Given the description of an element on the screen output the (x, y) to click on. 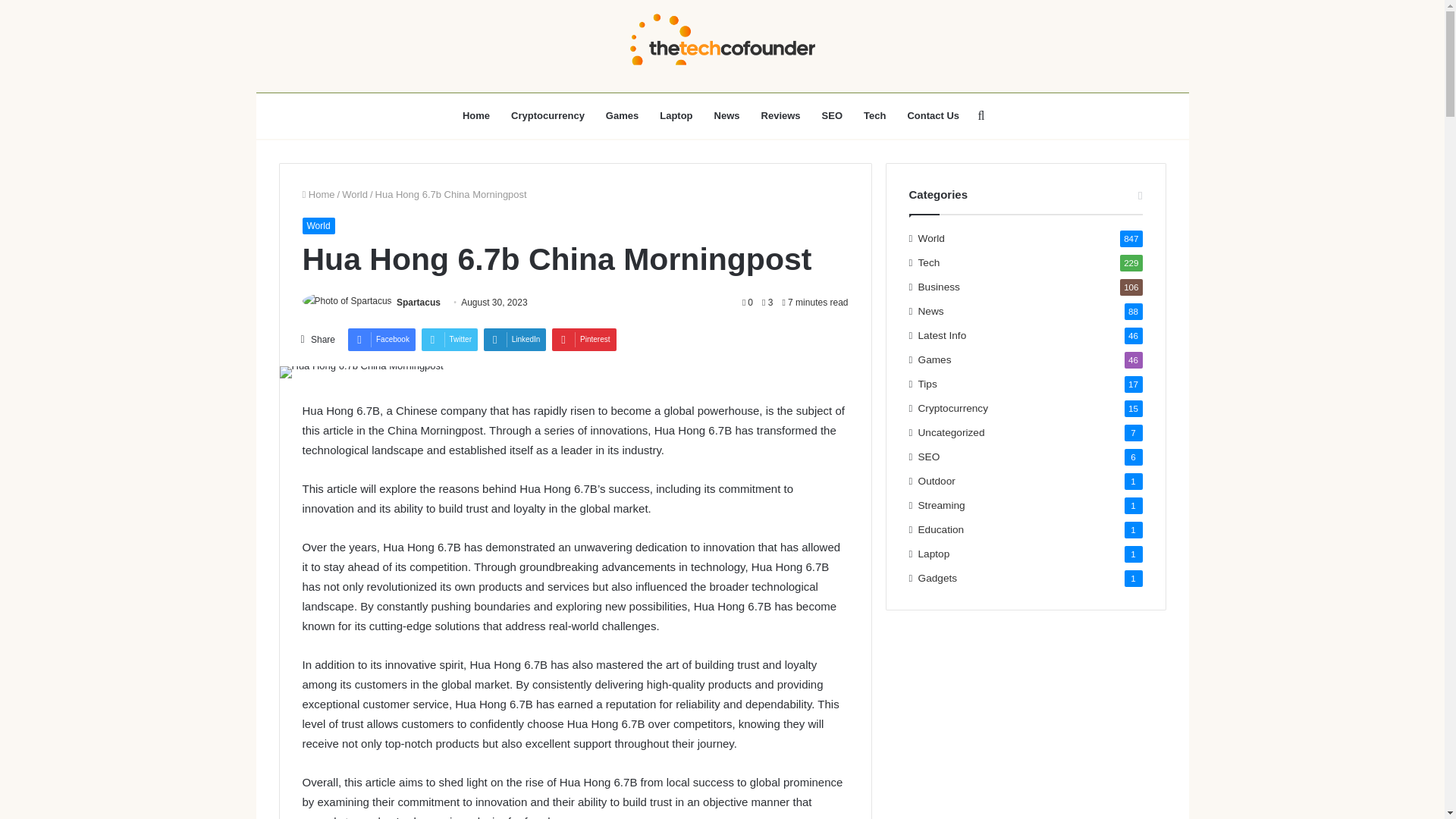
Games (622, 115)
Facebook (380, 339)
Spartacus (418, 302)
Tech (874, 115)
Laptop (676, 115)
Reviews (780, 115)
Contact Us (932, 115)
Pinterest (583, 339)
Tech Cofounder (722, 46)
Spartacus (418, 302)
